Given the description of an element on the screen output the (x, y) to click on. 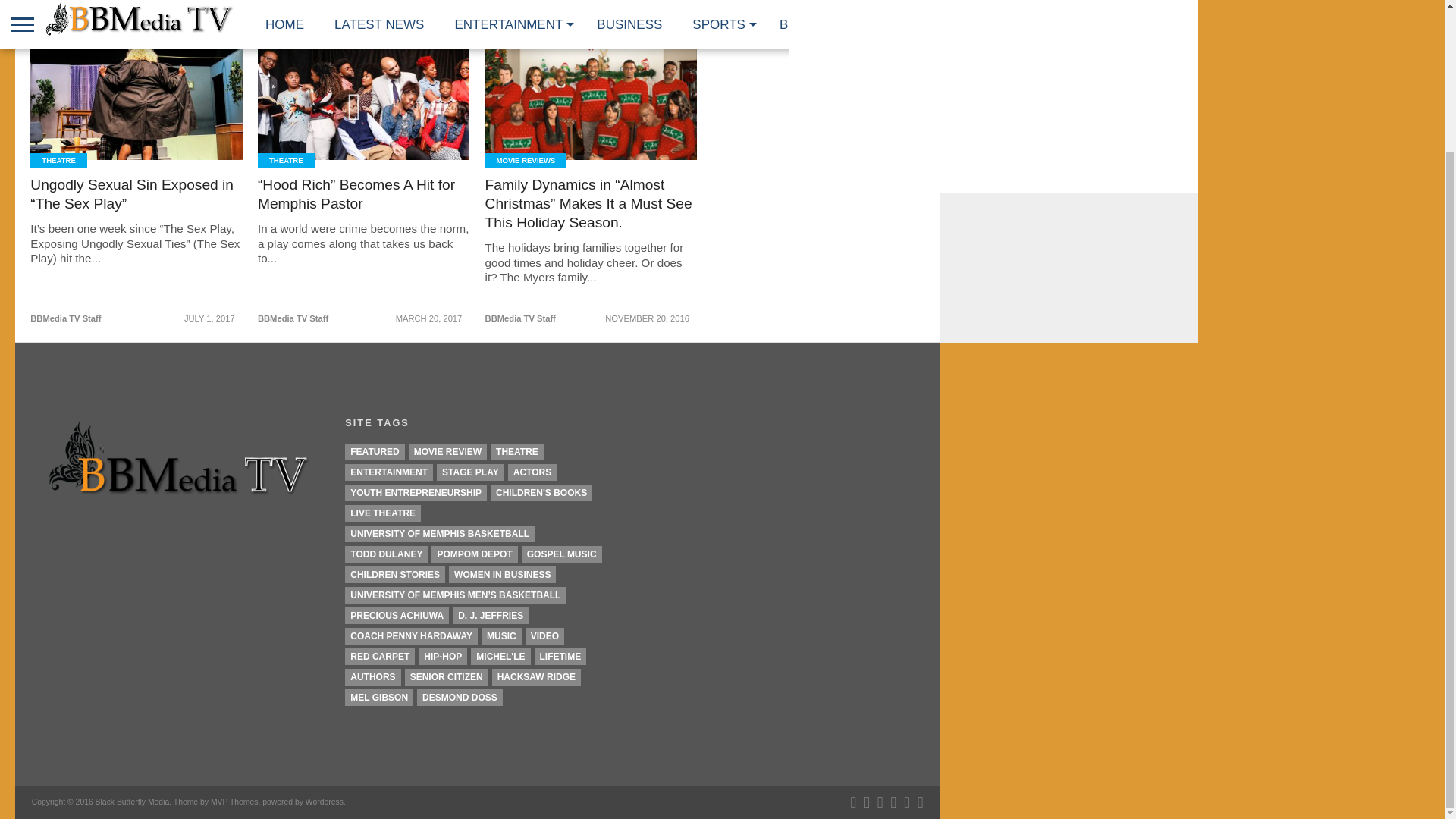
Advertisement (1068, 88)
Advertisement (1068, 303)
